Given the description of an element on the screen output the (x, y) to click on. 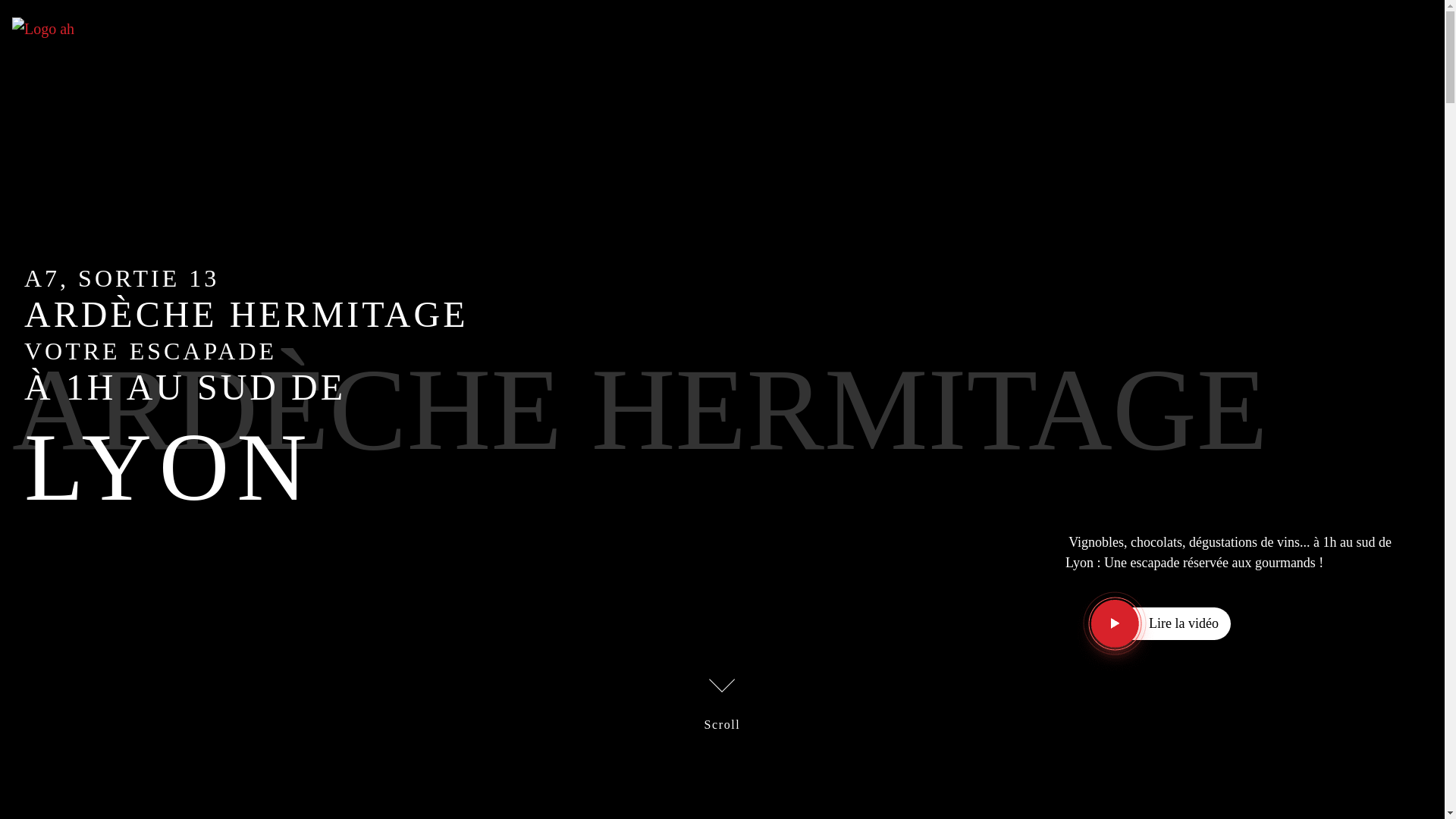
Scroll Element type: text (722, 702)
